Given the description of an element on the screen output the (x, y) to click on. 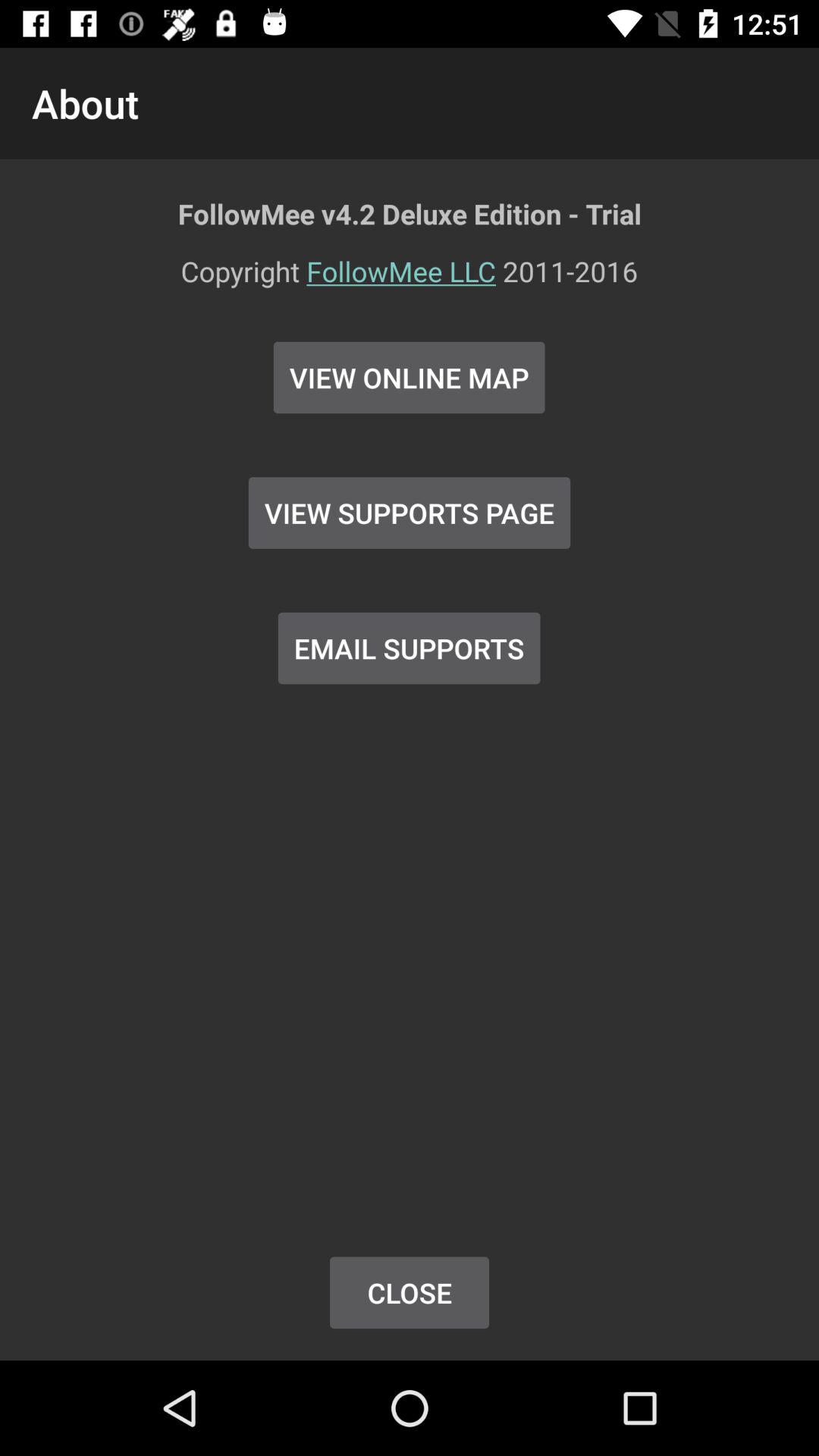
scroll to view supports page item (409, 512)
